Given the description of an element on the screen output the (x, y) to click on. 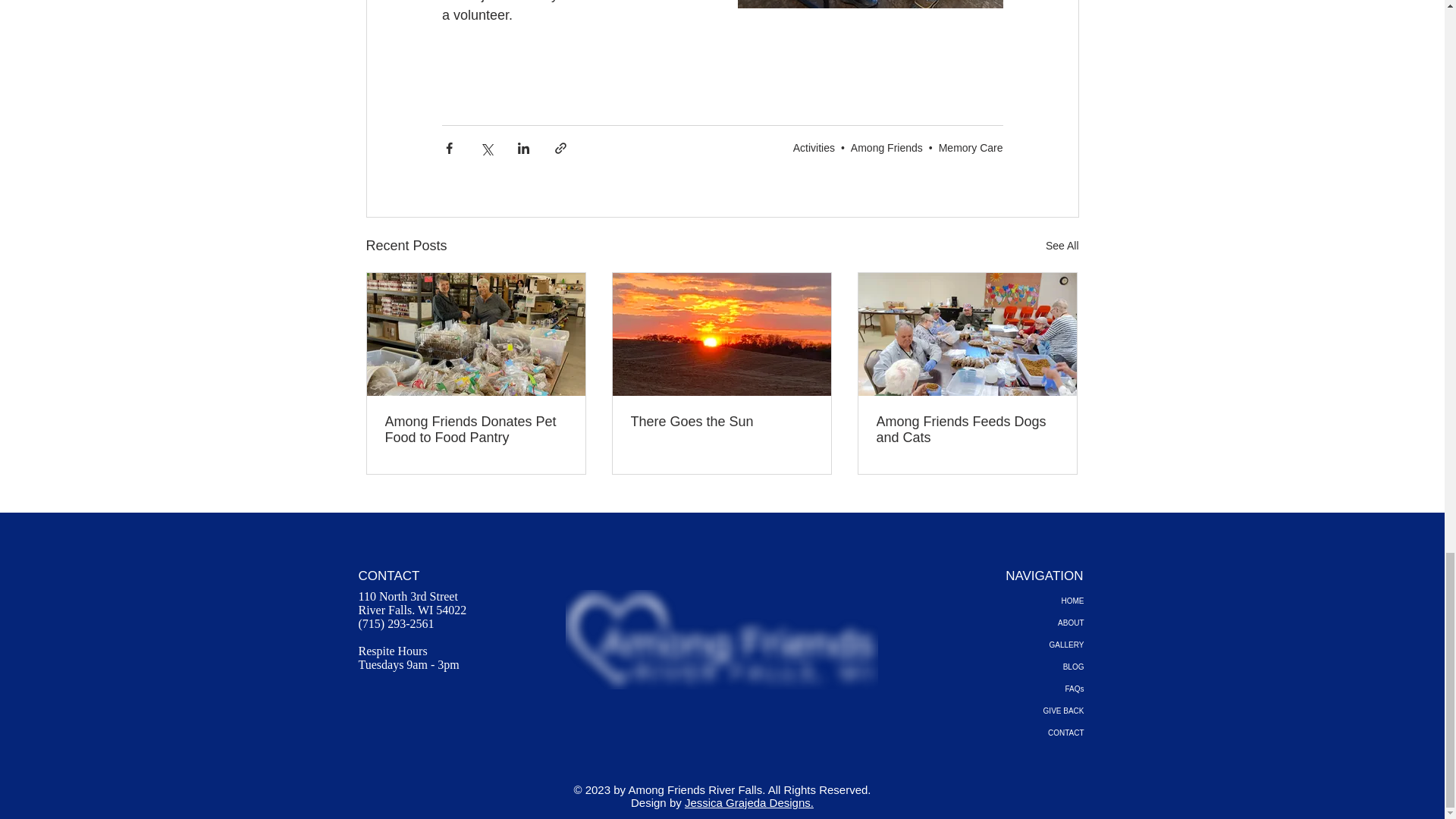
River Falls. WI 54022 (411, 609)
See All (1061, 246)
There Goes the Sun (721, 421)
Memory Care (971, 147)
Among Friends Donates Pet Food to Food Pantry (476, 429)
Among Friends Feeds Dogs and Cats (967, 429)
Among Friends (886, 147)
Activities (813, 147)
110 North 3rd Street (407, 595)
